Given the description of an element on the screen output the (x, y) to click on. 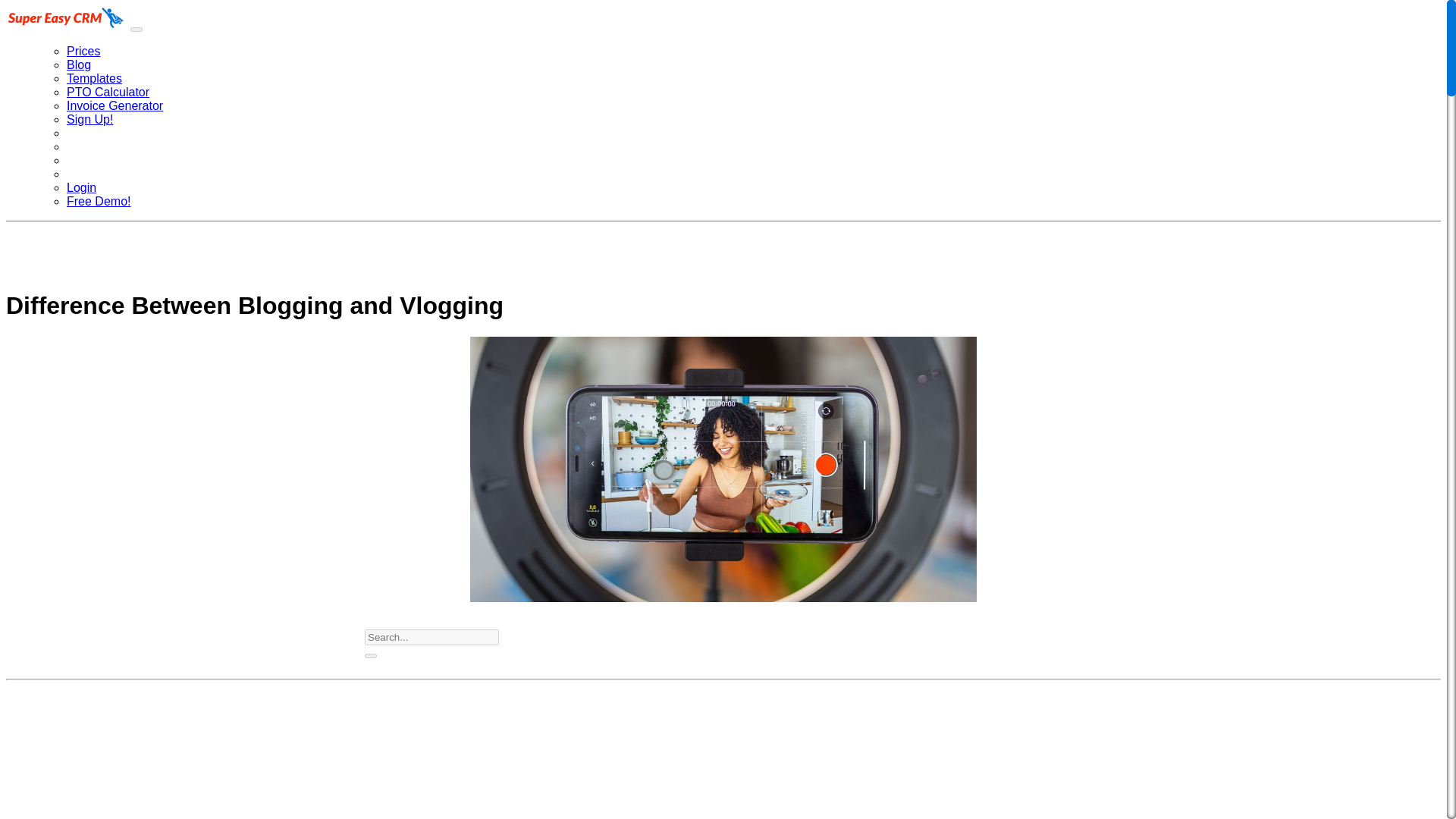
Blog (78, 64)
Login (81, 187)
Sign Up! (89, 119)
PTO Calculator (107, 91)
Free Demo! (98, 201)
Advertisement (460, 766)
Invoice Generator (114, 105)
Templates (94, 78)
Prices (83, 51)
